Given the description of an element on the screen output the (x, y) to click on. 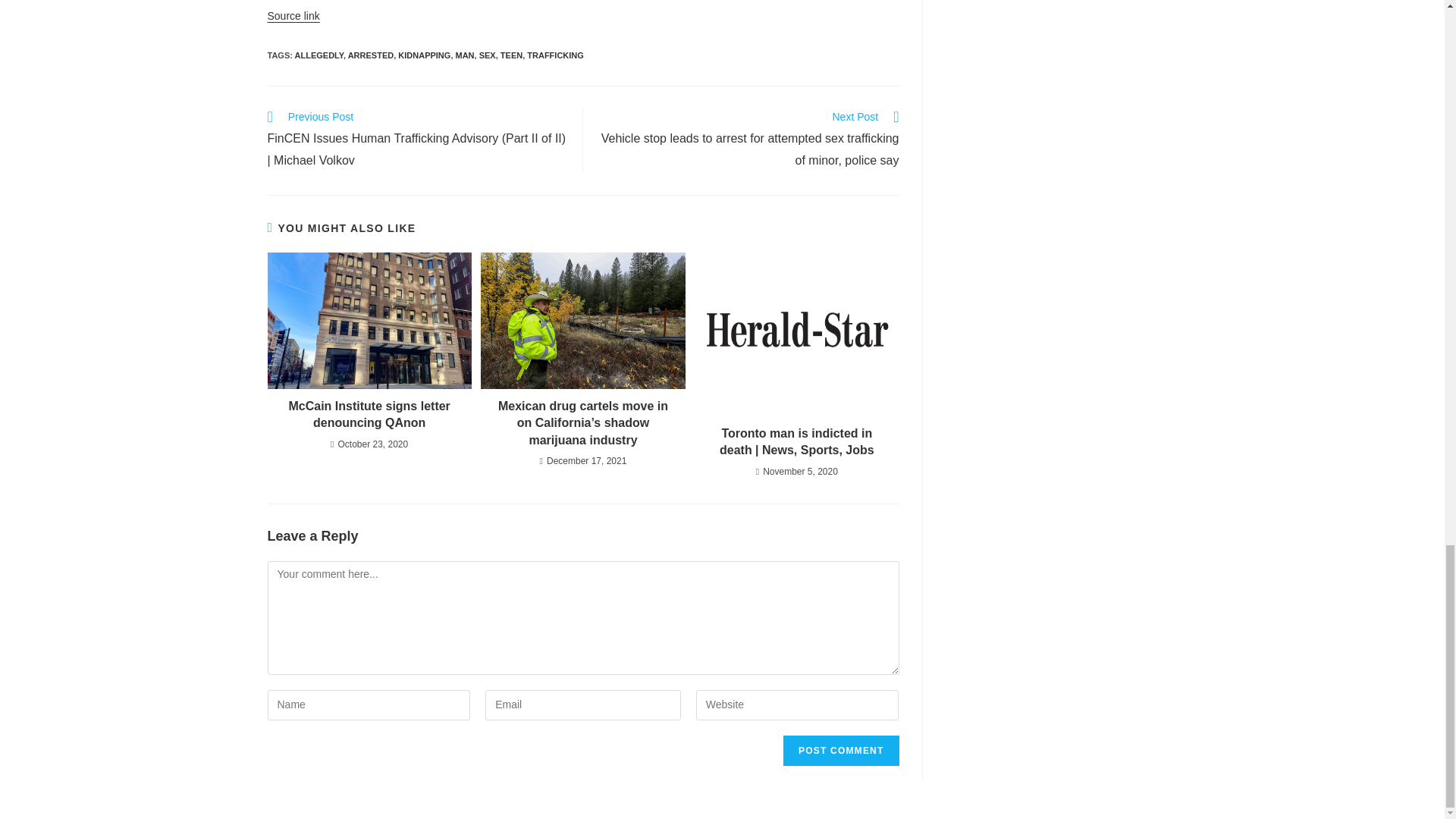
KIDNAPPING (423, 54)
Post Comment (840, 750)
SEX (487, 54)
TRAFFICKING (555, 54)
ARRESTED (370, 54)
ALLEGEDLY (319, 54)
Source link (292, 15)
MAN (464, 54)
McCain Institute signs letter denouncing QAnon (368, 415)
TEEN (511, 54)
Post Comment (840, 750)
